Given the description of an element on the screen output the (x, y) to click on. 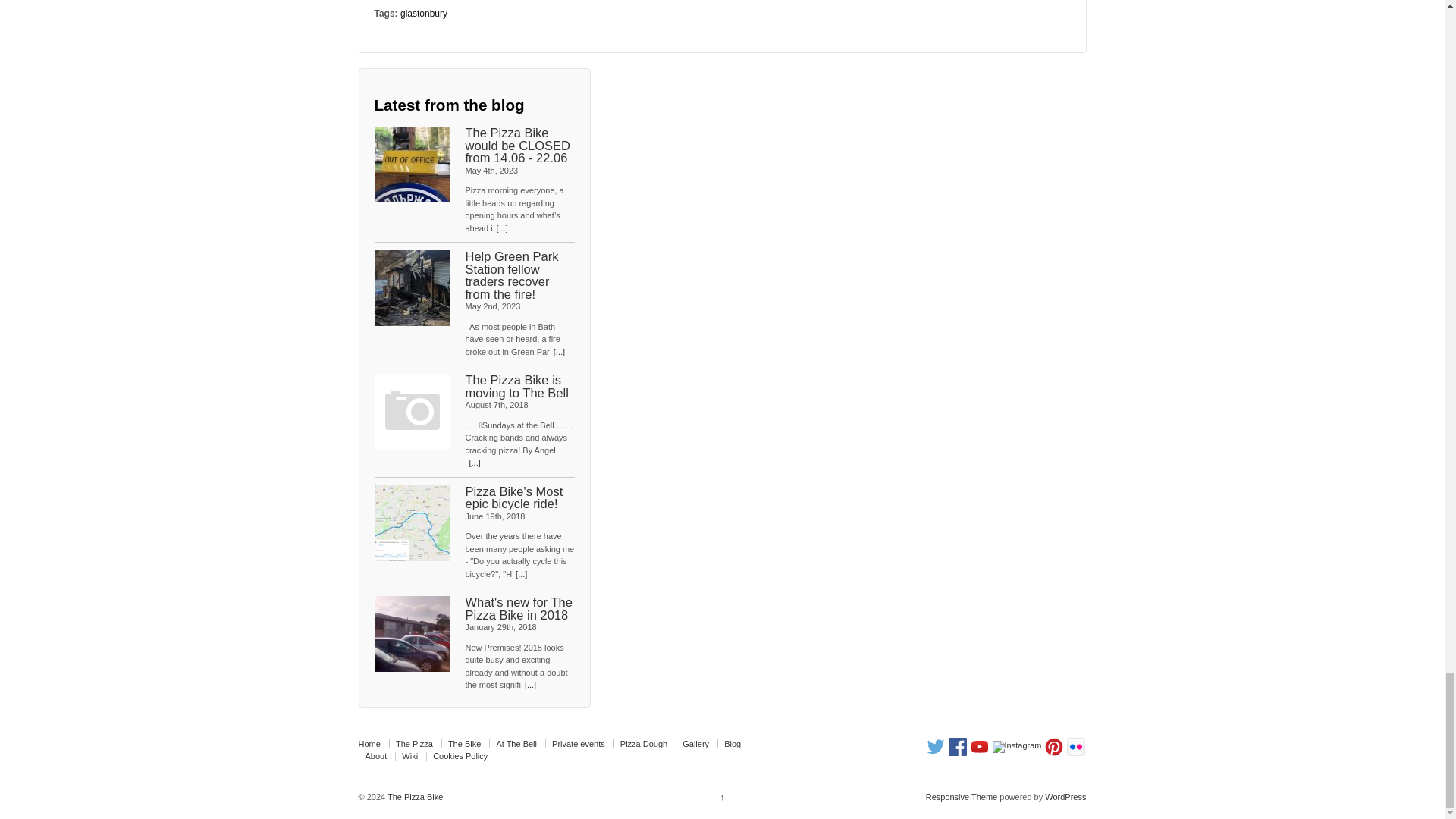
glastonbury (423, 13)
The Pizza Bike would be CLOSED from 14.06 - 22.06 (517, 145)
The Pizza Bike would be CLOSED from 14.06 - 22.06 (517, 145)
The Pizza Bike would be CLOSED from 14.06 - 22.06 (411, 164)
The Pizza Bike would be CLOSED from 14.06 - 22.06 (502, 227)
